Given the description of an element on the screen output the (x, y) to click on. 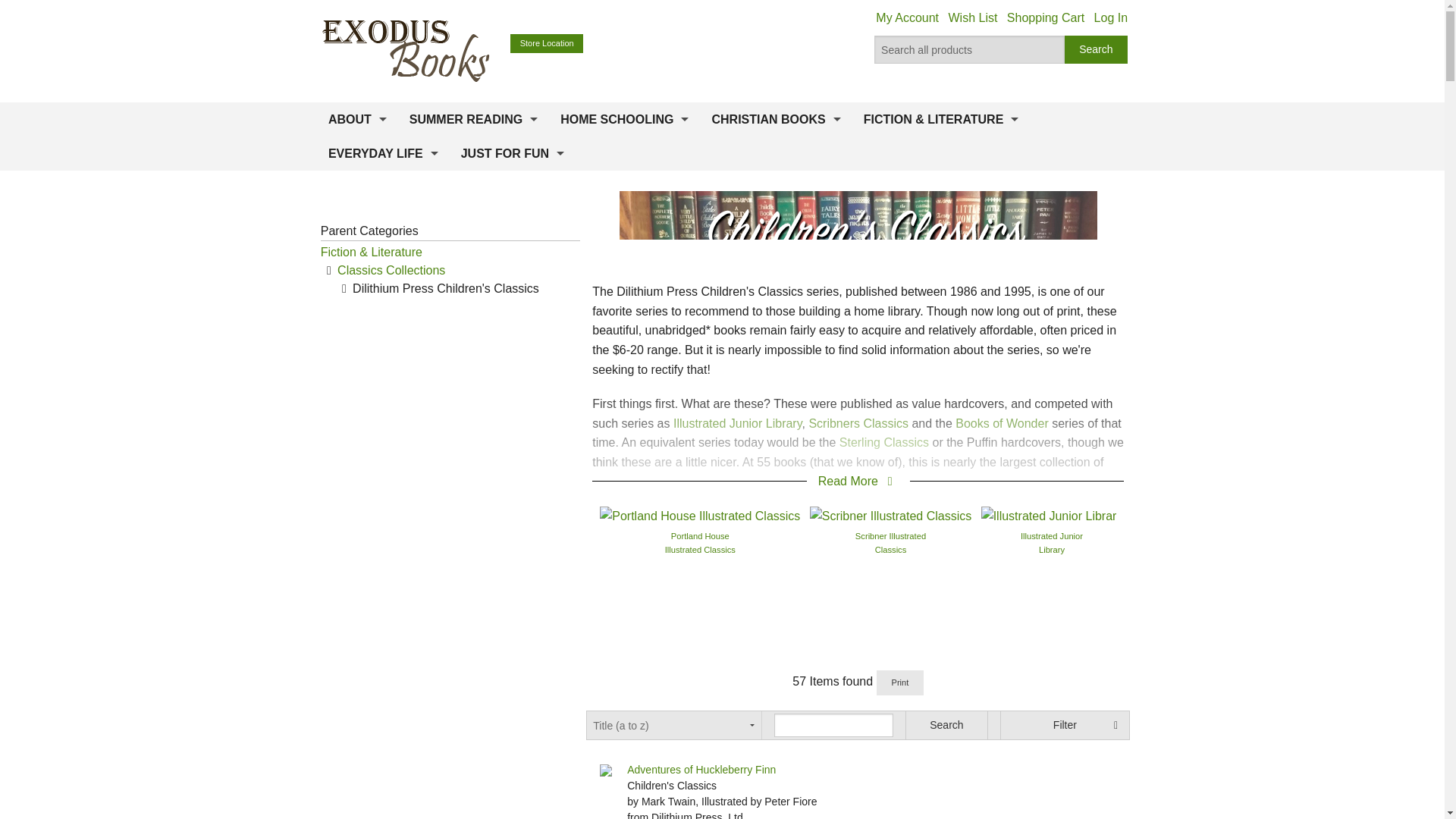
Shopping Cart (1045, 17)
Scribner Illustrated Classics (890, 514)
Illustrated Junior Library (1051, 542)
CHRISTIAN BOOKS (775, 119)
Scribner Illustrated Classics (891, 542)
Search (1096, 49)
Portland House Illustrated Classics (699, 514)
Illustrated Junior Library (1051, 514)
ABOUT (357, 119)
Sterling Classics (1182, 514)
